Given the description of an element on the screen output the (x, y) to click on. 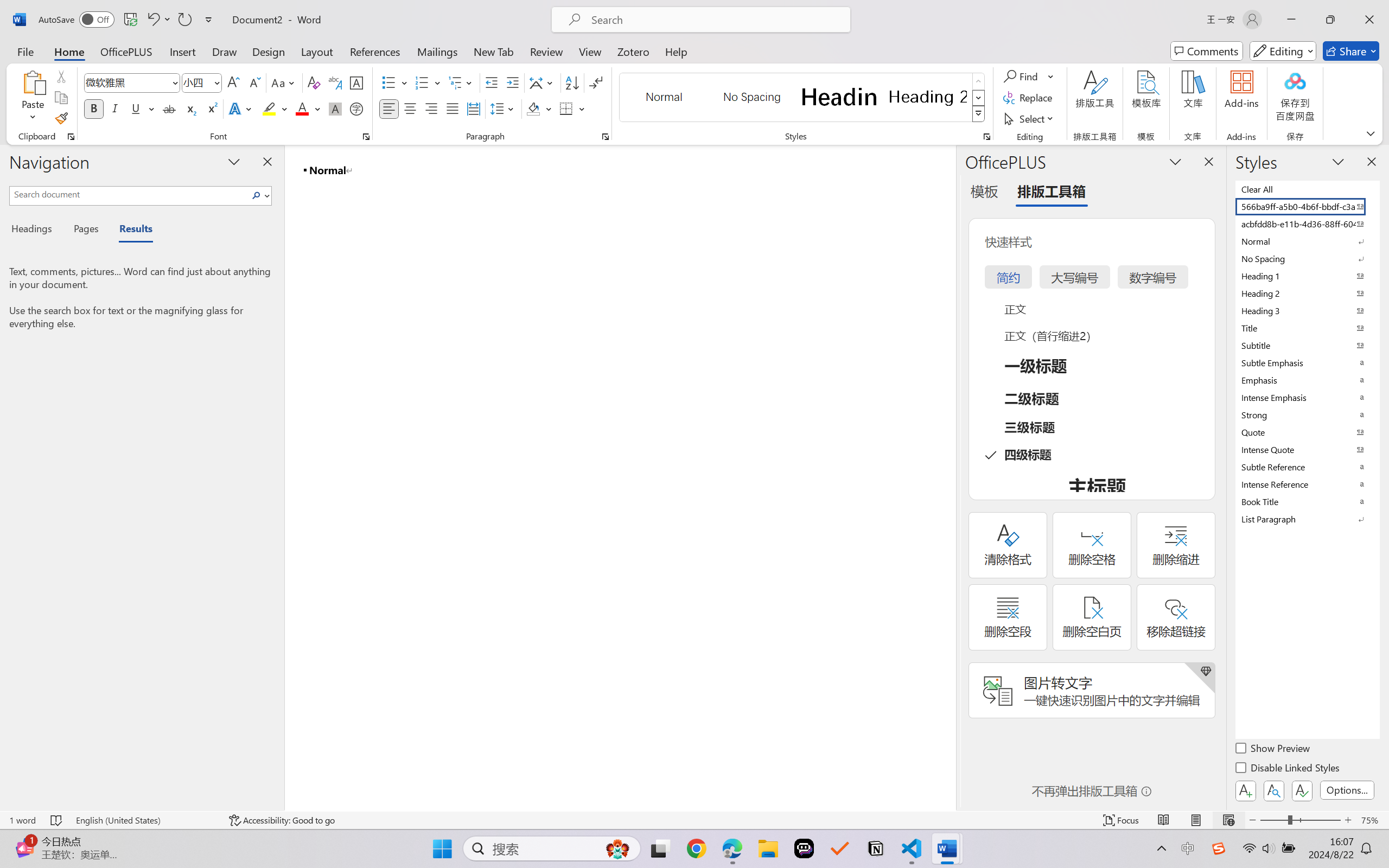
Mailings (437, 51)
Class: MsoCommandBar (694, 819)
Intense Quote (1306, 449)
Font (126, 82)
Borders (566, 108)
Search (256, 195)
Intense Emphasis (1306, 397)
Enclose Characters... (356, 108)
Normal (1306, 240)
Minimize (1291, 19)
Zoom Out (1273, 819)
AutomationID: DynamicSearchBoxGleamImage (617, 848)
Options... (1346, 789)
